Given the description of an element on the screen output the (x, y) to click on. 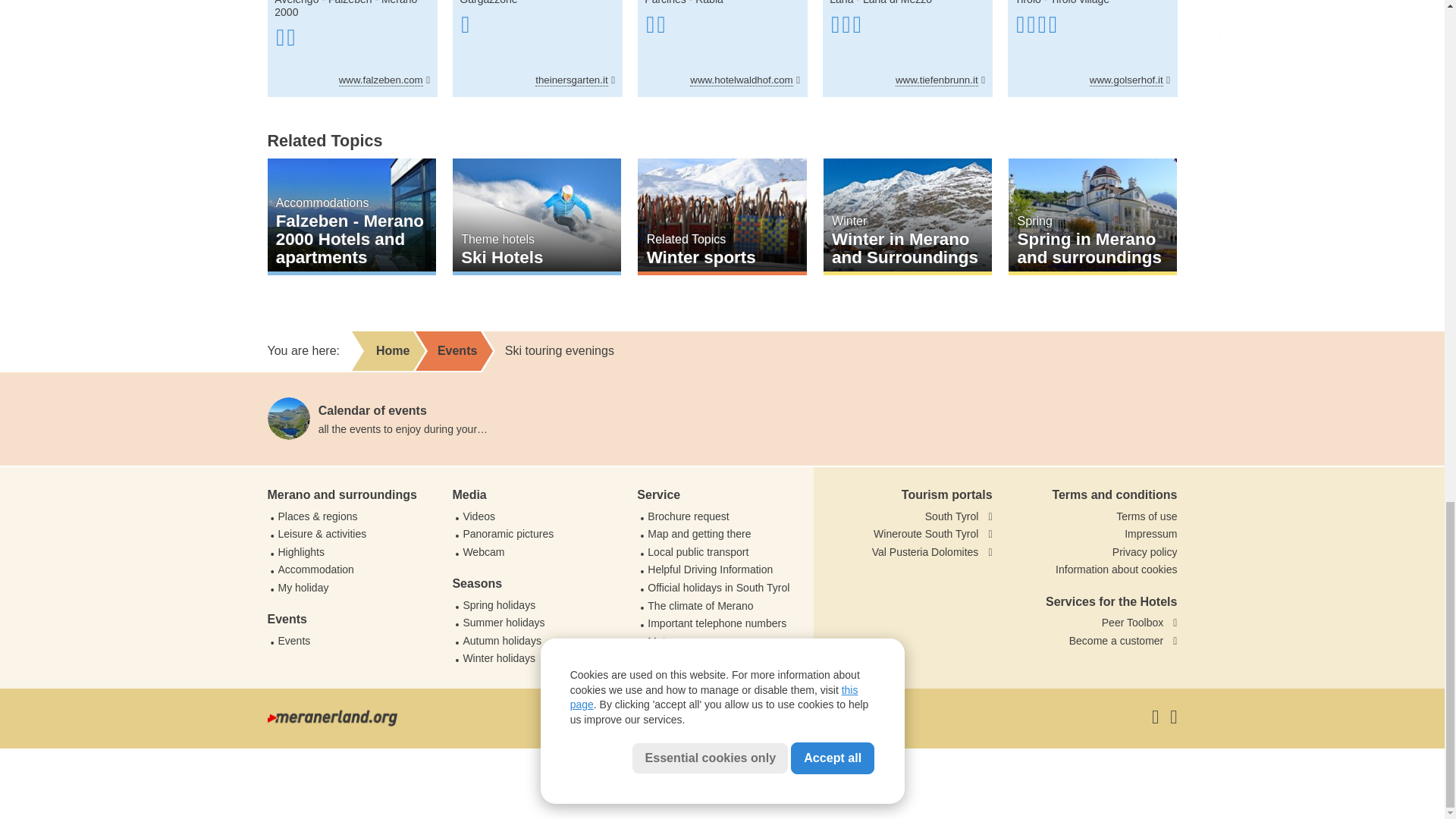
www.falzeben.com (384, 79)
www.tiefenbrunn.it (940, 79)
Hotel Falzeben (351, 48)
Tirolo (1027, 2)
Hotel Golserhof (1091, 48)
Falzeben - Merano 2000 Hotels and apartments (350, 216)
www.hotelwaldhof.com (744, 79)
Lana (841, 2)
Tirolo village (1079, 2)
Vitalpina Hotel Waldhof (721, 48)
Parcines (665, 2)
Avelengo (296, 2)
Lana di Mezzo (897, 2)
Im Tiefenbrunn (906, 48)
theinersgarten.it (574, 79)
